Given the description of an element on the screen output the (x, y) to click on. 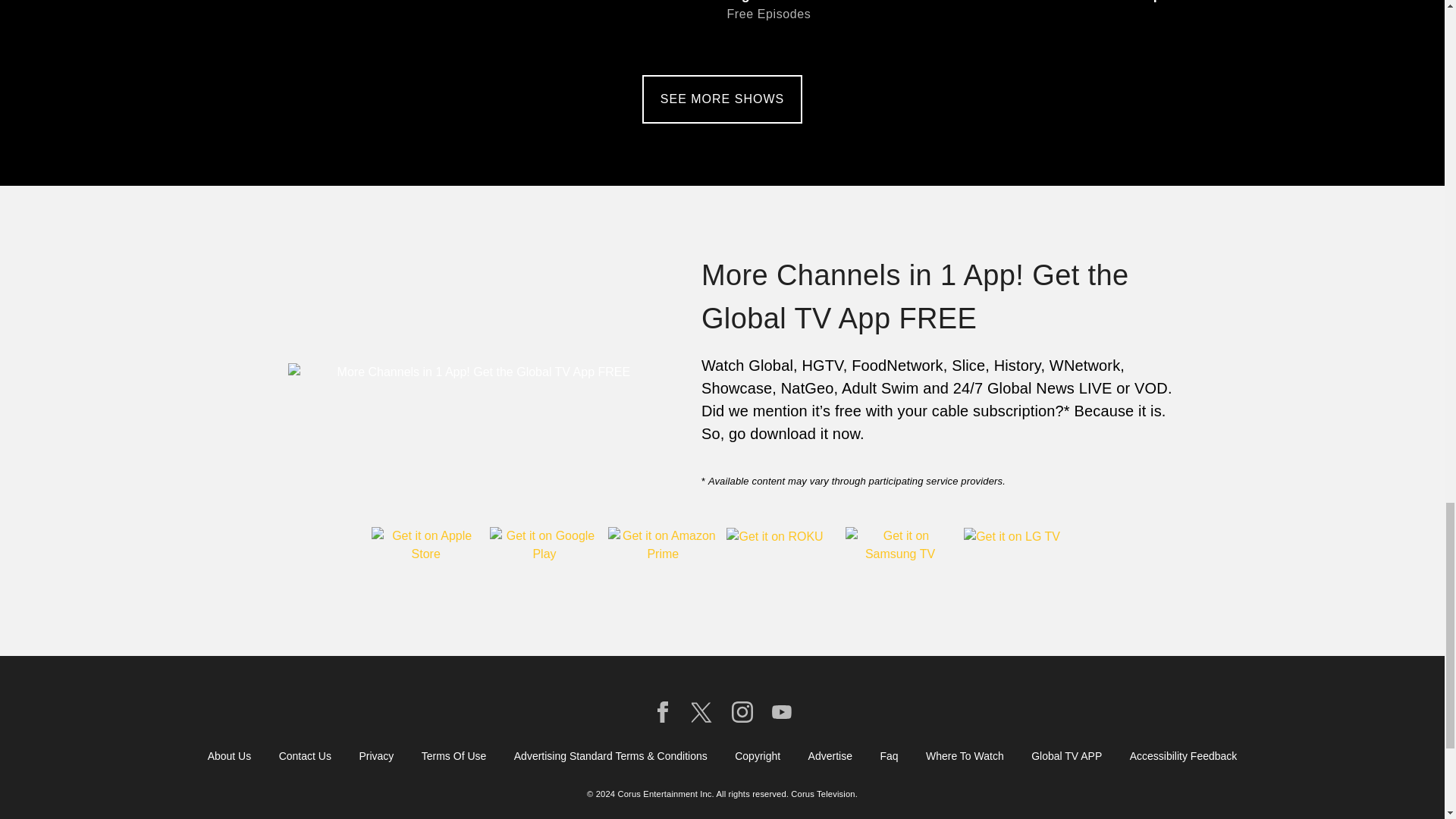
The Late Show with Stephen Colbert (1117, 24)
SEE MORE SHOWS (722, 99)
Who Wants To Be A Millionaire (325, 24)
Survivor (853, 24)
